Given the description of an element on the screen output the (x, y) to click on. 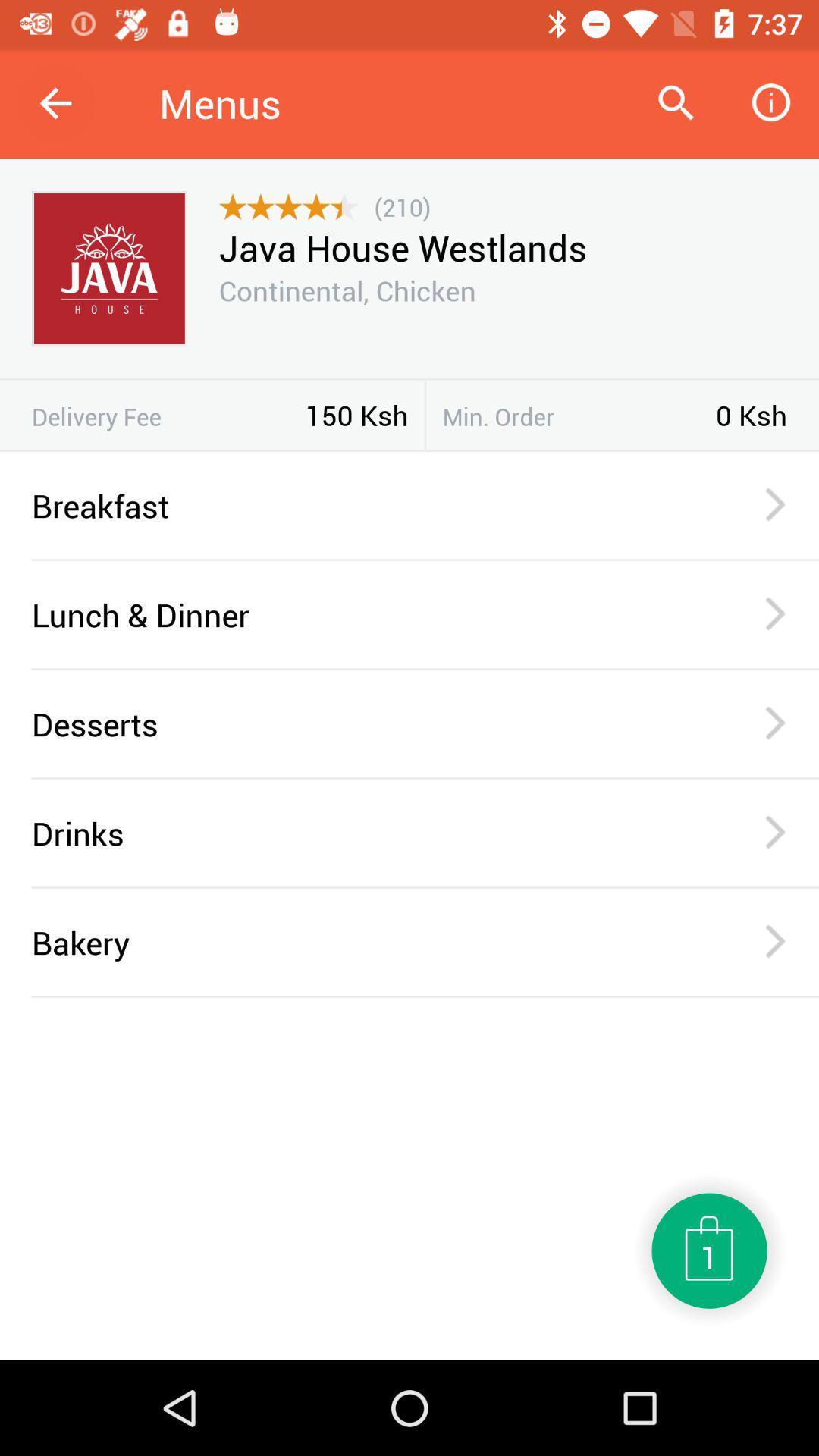
open item next to the 150 ksh (168, 416)
